Given the description of an element on the screen output the (x, y) to click on. 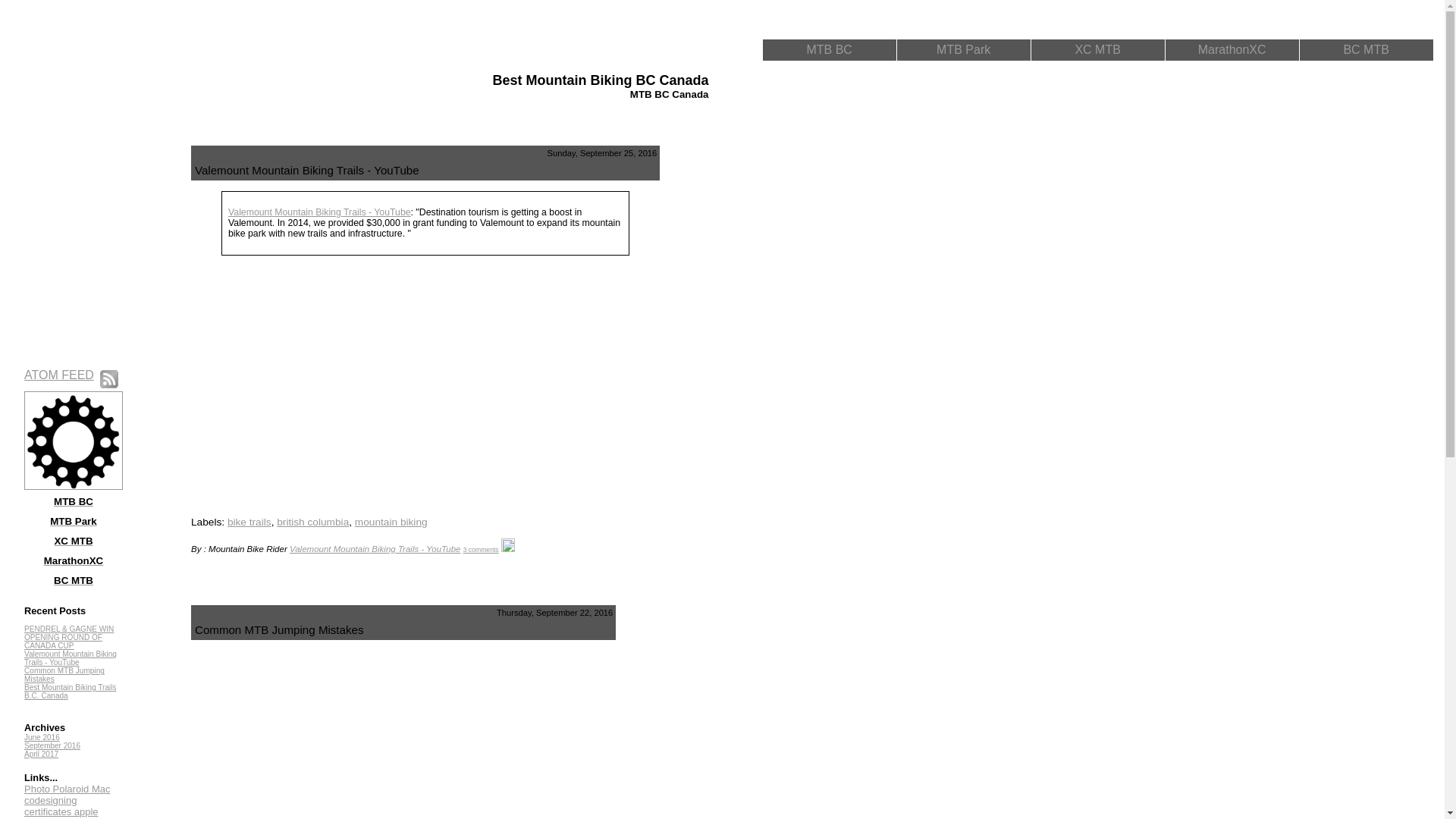
MTB BC Element type: text (73, 500)
BC MTB Element type: text (1365, 49)
3 comments Element type: text (480, 549)
ATOM FEED Element type: text (59, 374)
bike trails Element type: text (249, 521)
September 2016 Element type: text (52, 745)
MTB BC Element type: text (828, 49)
April 2017 Element type: text (41, 753)
Photo Polaroid Mac Element type: text (66, 788)
XC MTB Element type: text (72, 539)
Valemount Mountain Biking Trails - YouTube Element type: text (375, 548)
MarathonXC Element type: text (73, 559)
Advertisement Element type: hover (732, 372)
Common MTB Jumping Mistakes Element type: text (64, 674)
Best Mountain Biking Trails B.C. Canada Element type: text (70, 691)
XC MTB Element type: text (1097, 49)
MarathonXC Element type: text (1232, 49)
MTB Park Element type: text (73, 520)
PENDREL & GAGNE WIN OPENING ROUND OF CANADA CUP Element type: text (68, 636)
MTB Park Element type: text (963, 49)
June 2016 Element type: text (41, 737)
Valemount Mountain Biking Trails - YouTube Element type: text (70, 657)
Valemount Mountain Biking Trails - YouTube Element type: text (319, 212)
Edit Post Element type: hover (507, 548)
mountain biking Element type: text (390, 521)
british columbia Element type: text (312, 521)
codesigning certificates apple Element type: text (61, 805)
BC MTB Element type: text (73, 579)
